Given the description of an element on the screen output the (x, y) to click on. 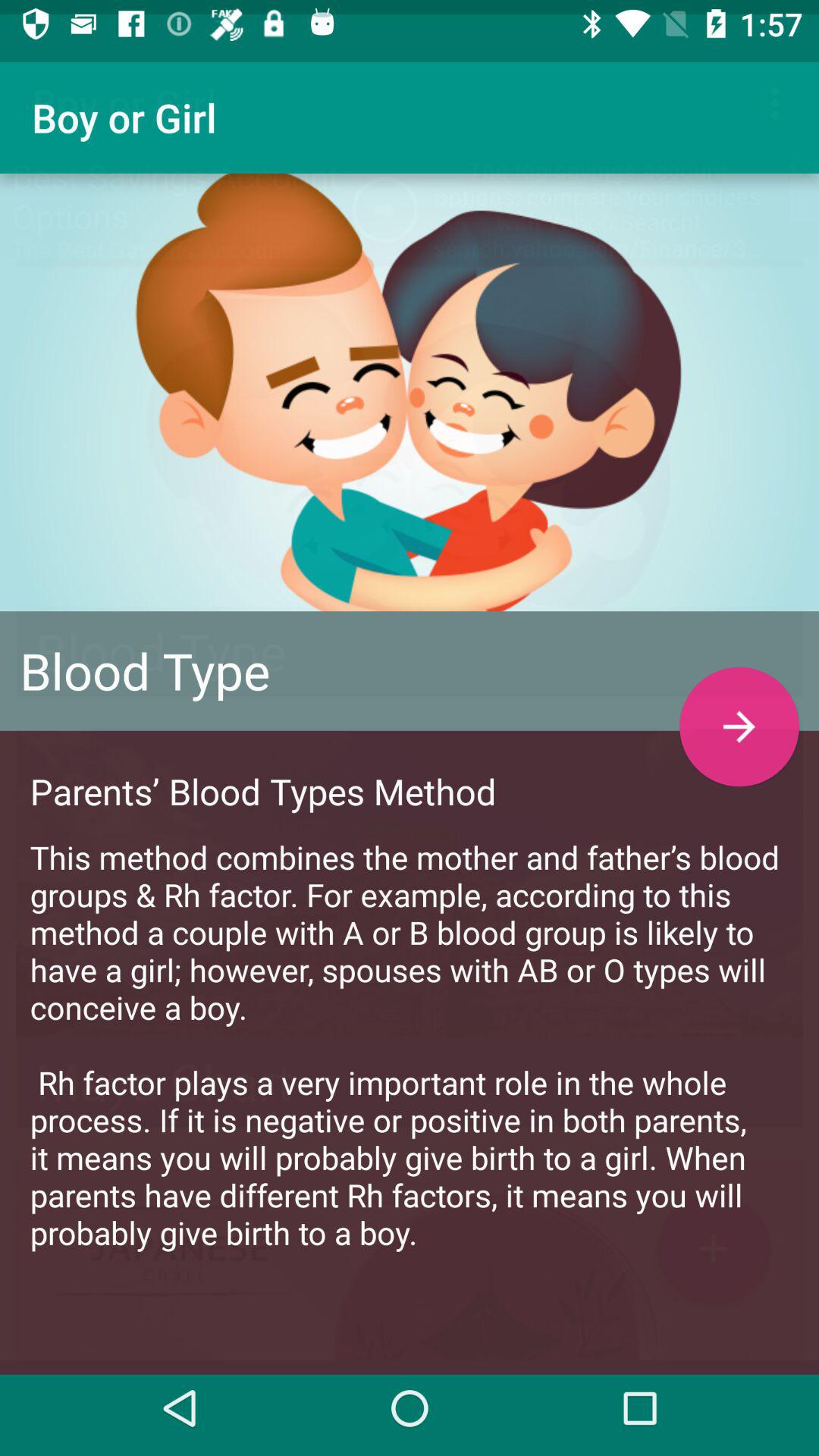
go next (739, 712)
